Given the description of an element on the screen output the (x, y) to click on. 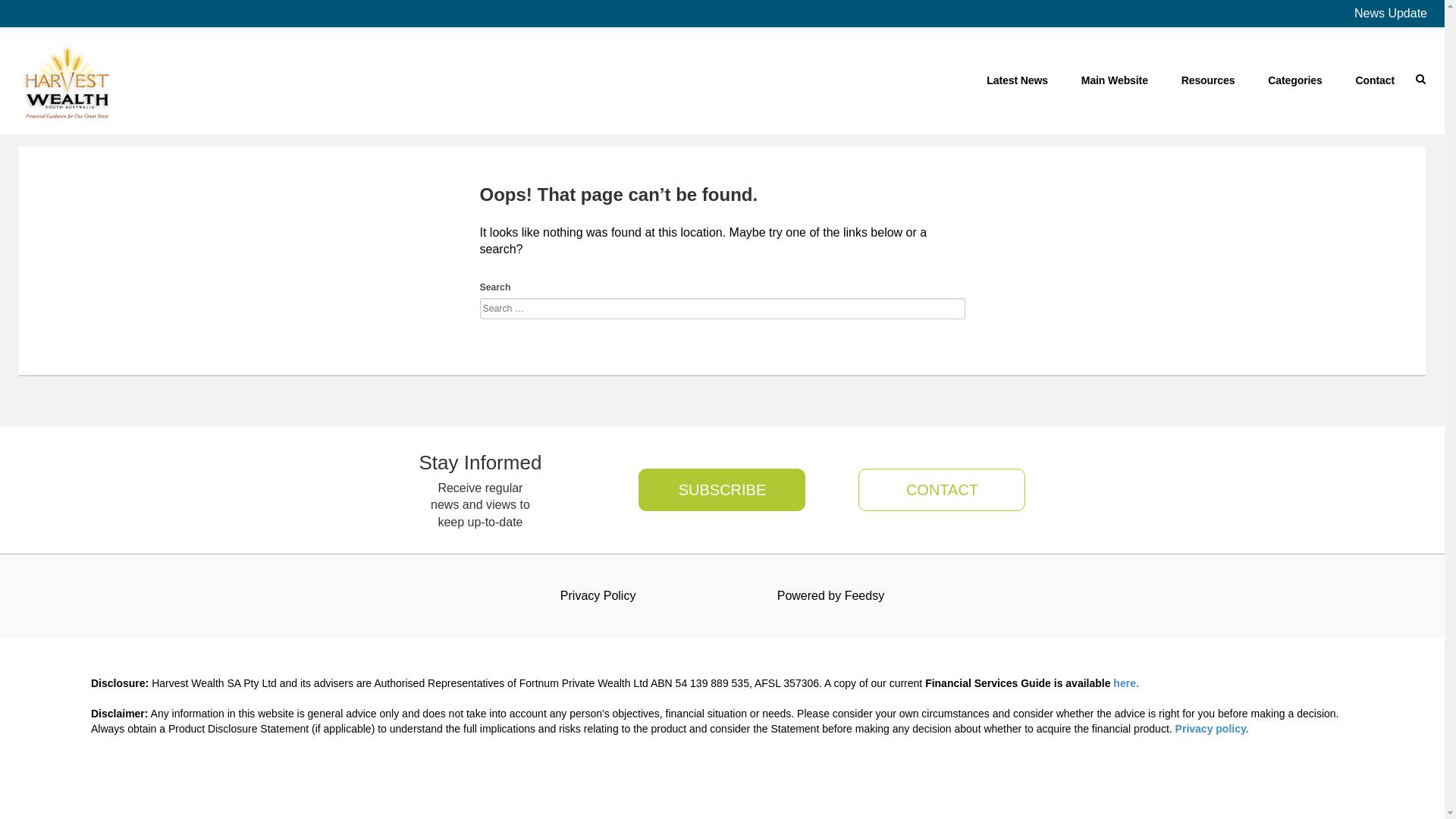
Contact Element type: text (1374, 80)
Latest News Element type: text (1017, 80)
here. Element type: text (1125, 683)
Privacy Policy Element type: text (598, 595)
CONTACT Element type: text (932, 489)
Privacy policy. Element type: text (1211, 728)
Search Element type: text (33, 17)
Main Website Element type: text (1114, 80)
SUBSCRIBE Element type: text (721, 489)
Categories Element type: text (1294, 80)
Skip to content Element type: text (1393, 67)
Resources Element type: text (1208, 80)
Harvest Wealth (SA) Pty Ltd Element type: hover (65, 80)
